Given the description of an element on the screen output the (x, y) to click on. 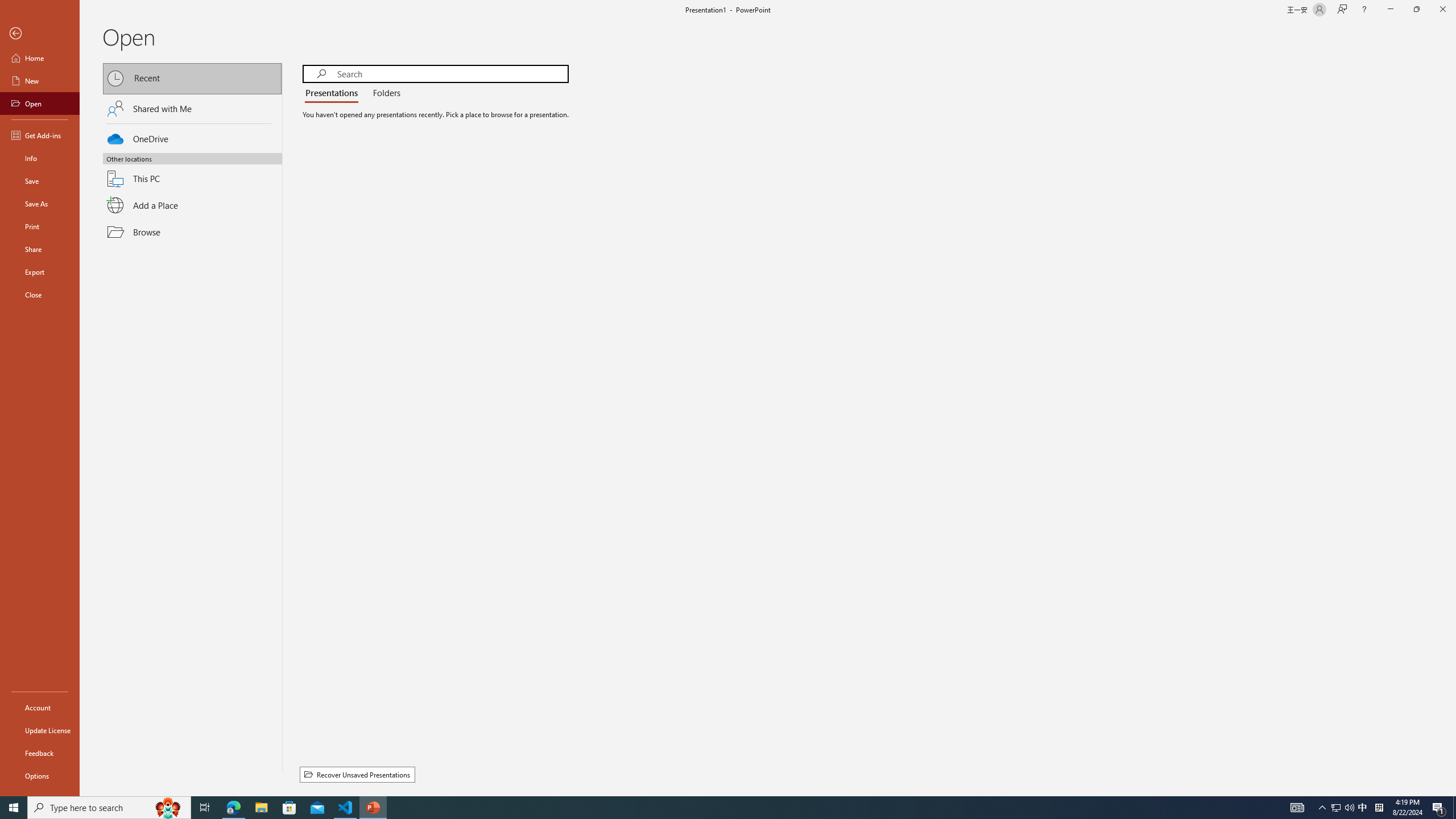
This PC (192, 171)
Get Add-ins (40, 134)
Recover Unsaved Presentations (356, 774)
Export (40, 271)
Back (40, 33)
Presentations (333, 93)
Print (40, 225)
Recent (192, 78)
Account (40, 707)
